Given the description of an element on the screen output the (x, y) to click on. 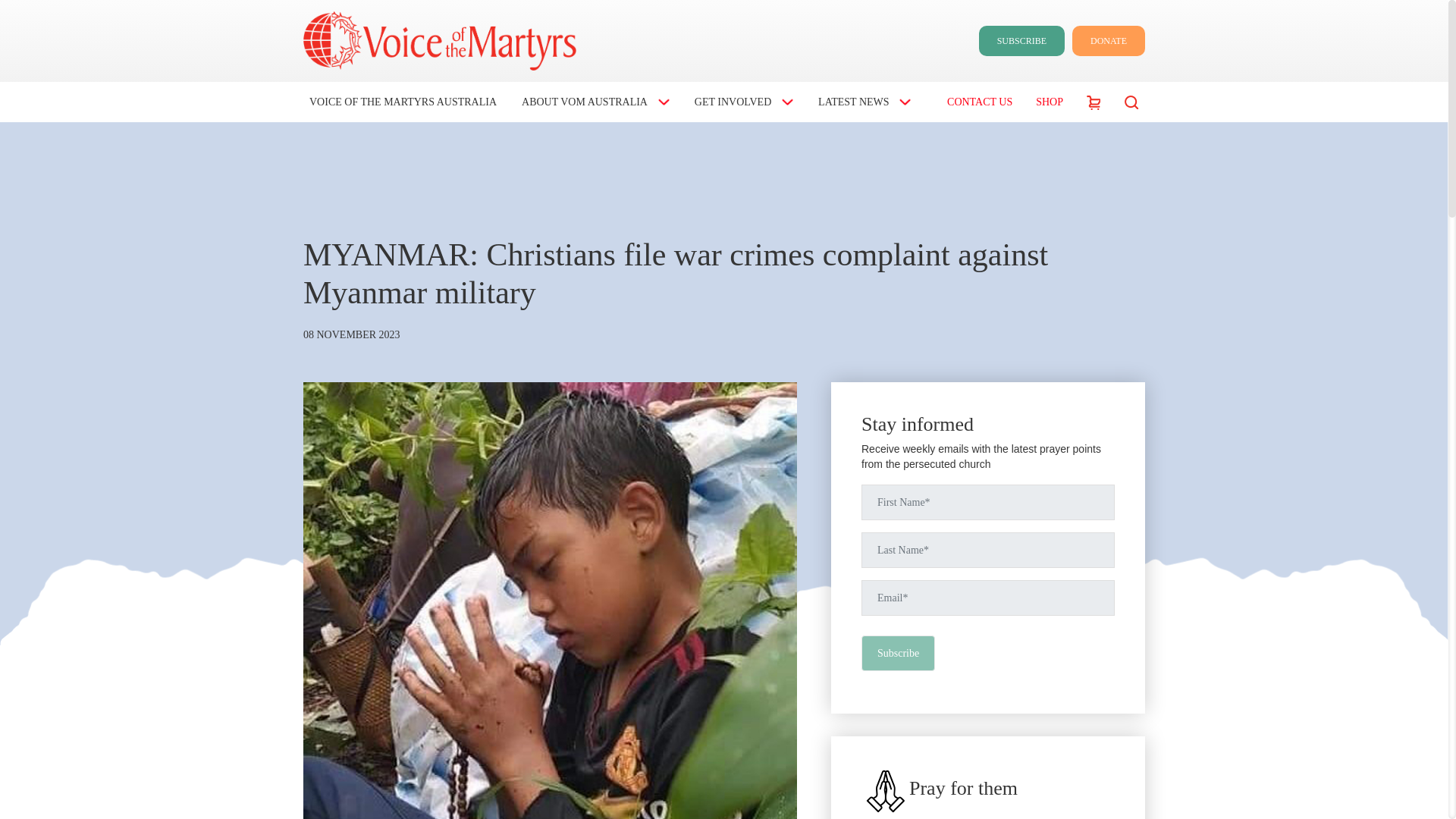
LATEST NEWS (861, 102)
Subscribe (897, 652)
DONATE (1107, 40)
SUBSCRIBE (1021, 40)
ABOUT VOM AUSTRALIA (592, 102)
VOICE OF THE MARTYRS AUSTRALIA (399, 102)
GET INVOLVED (740, 102)
